Given the description of an element on the screen output the (x, y) to click on. 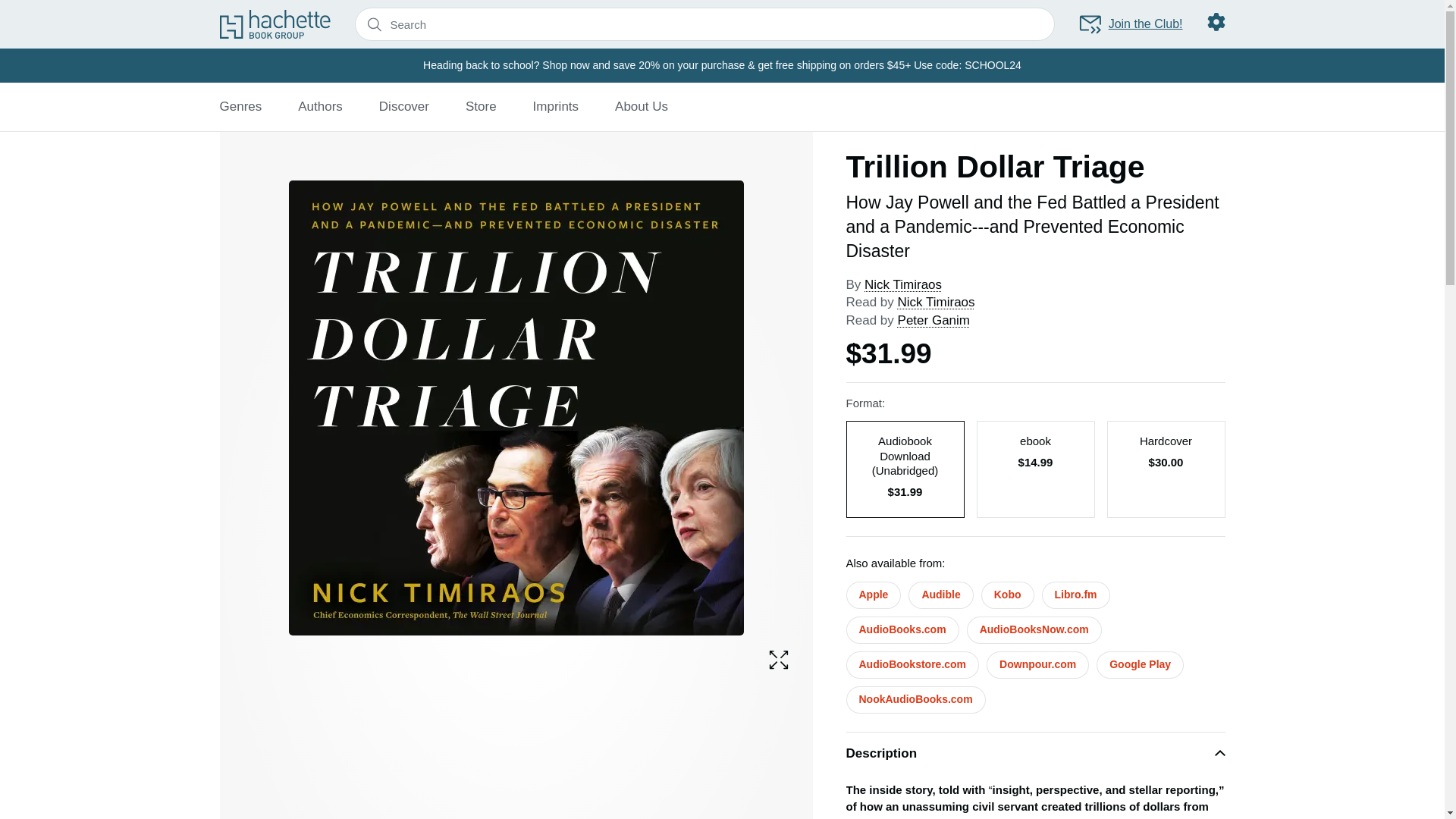
Go to Hachette Book Group home (274, 23)
Genres (240, 106)
Join the Club! (1130, 24)
